Given the description of an element on the screen output the (x, y) to click on. 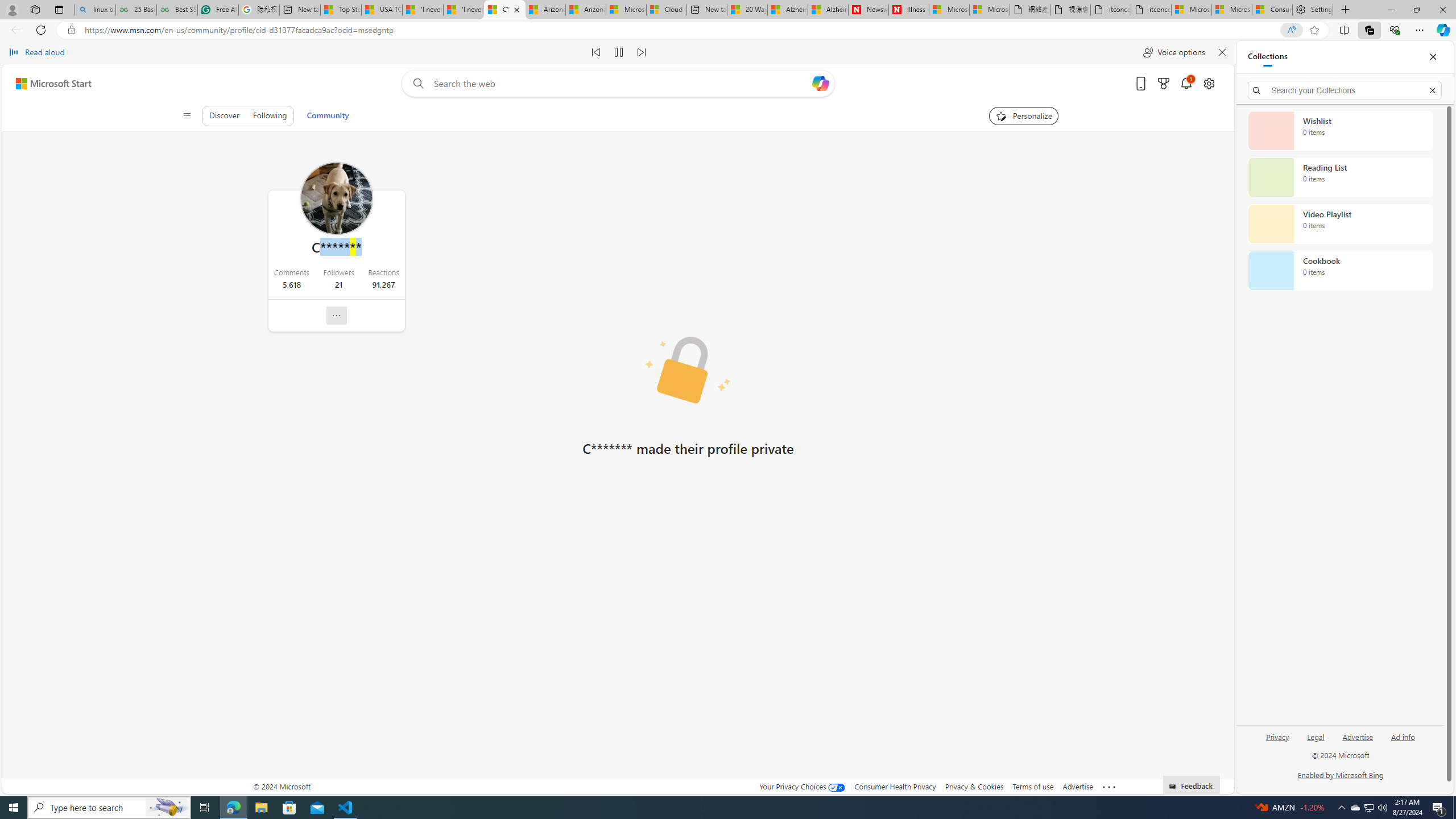
Cookbook collection, 0 items (1339, 270)
Community (327, 115)
Profile Picture (335, 198)
Class: oneFooter_seeMore-DS-EntryPoint1-1 (1108, 786)
